Given the description of an element on the screen output the (x, y) to click on. 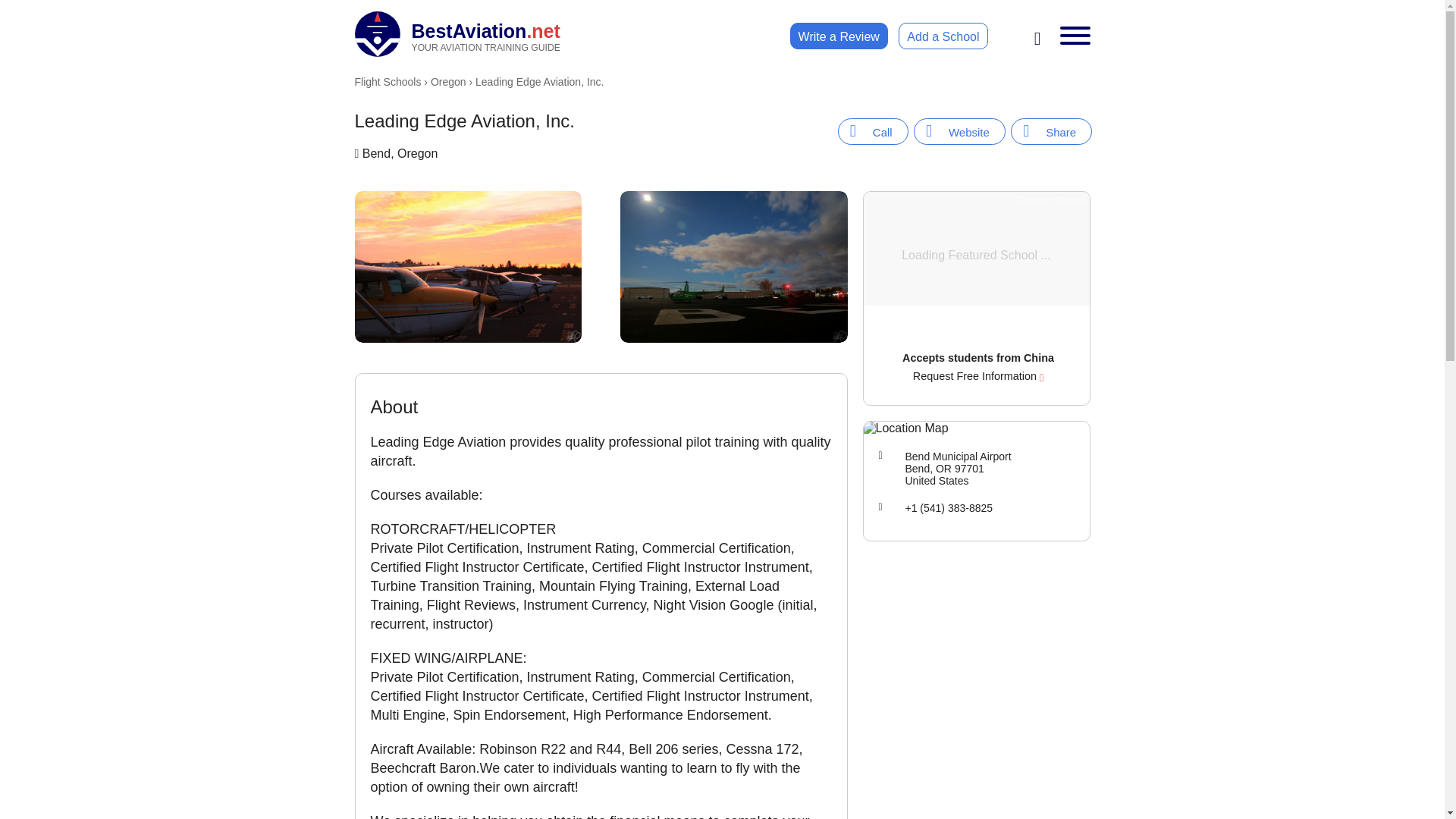
Visit website (960, 130)
Flight Schools (388, 81)
Review an aviation school (839, 35)
Share (1051, 130)
Leading Edge Aviation, Inc. (1051, 130)
Best Aviation Schools (457, 32)
Add your aviation school (942, 35)
Write a Review (457, 32)
Oregon (839, 35)
